Given the description of an element on the screen output the (x, y) to click on. 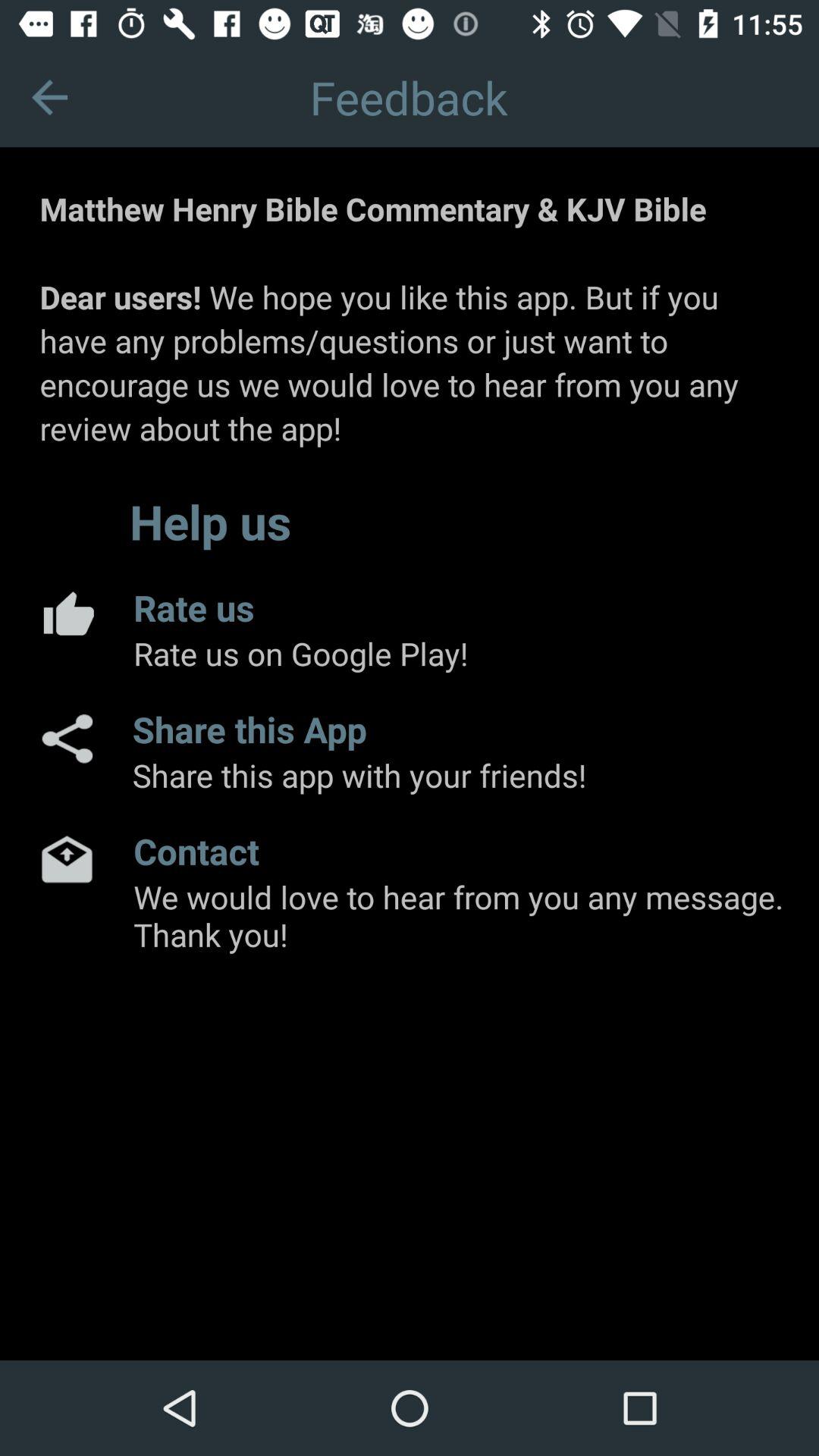
contact app developer (66, 858)
